Given the description of an element on the screen output the (x, y) to click on. 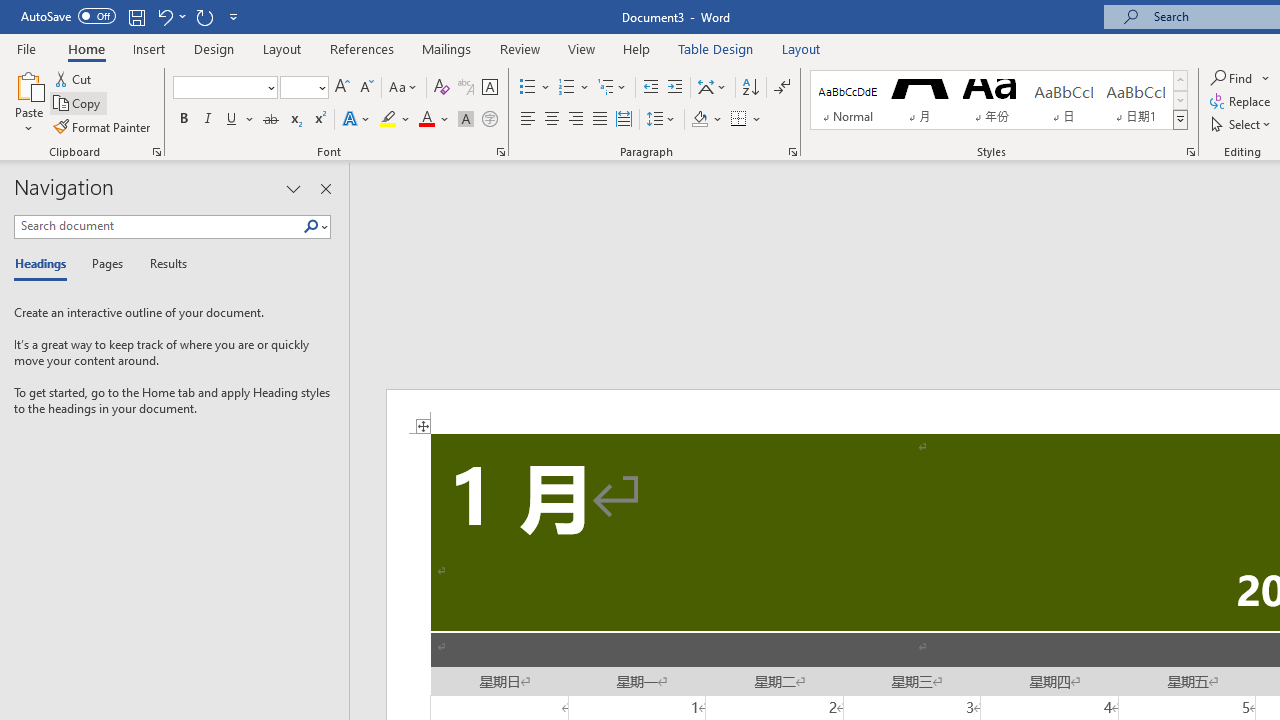
Undo Shrink Font (164, 15)
